Given the description of an element on the screen output the (x, y) to click on. 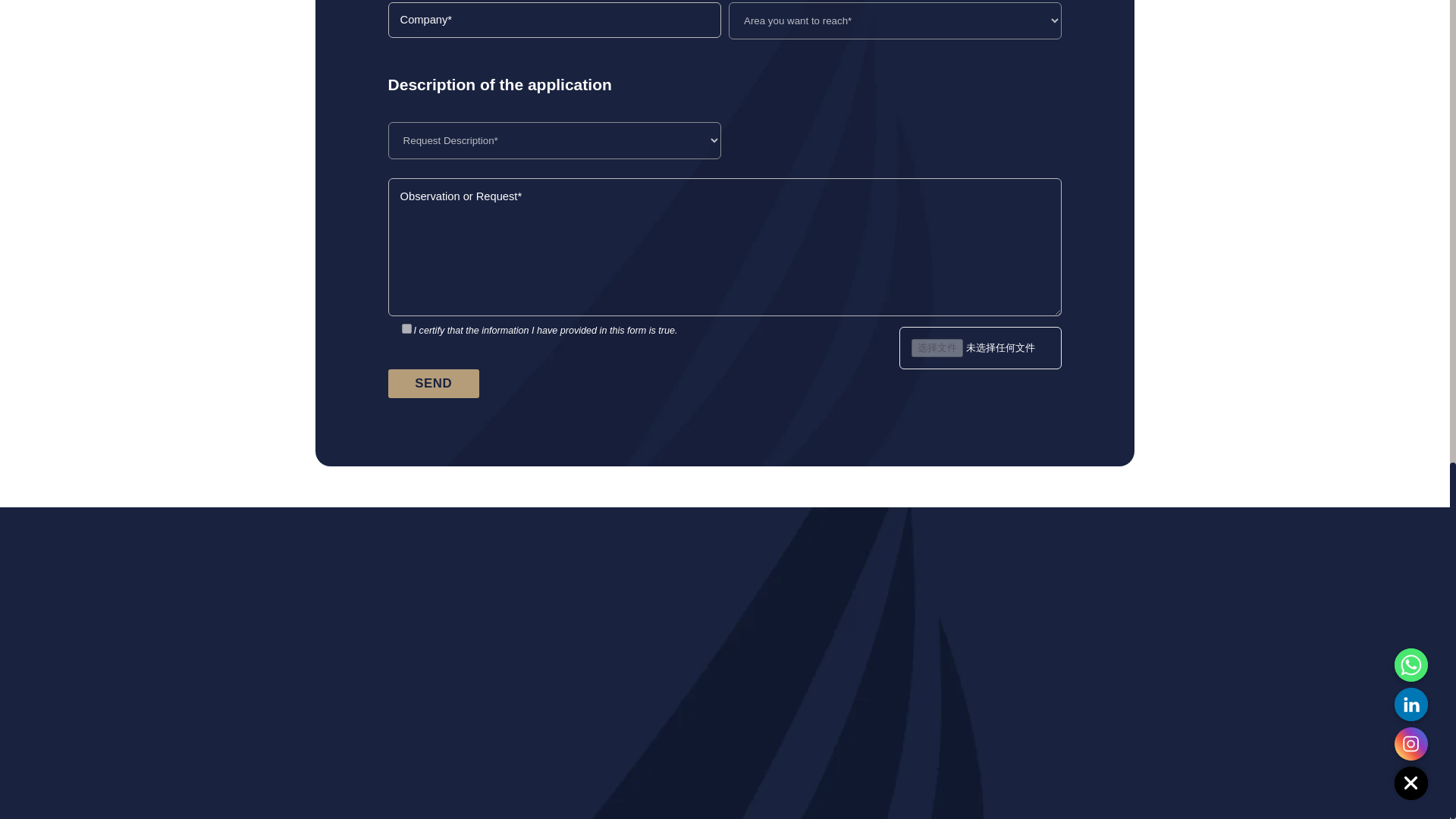
SEND (433, 383)
1 (406, 328)
